Given the description of an element on the screen output the (x, y) to click on. 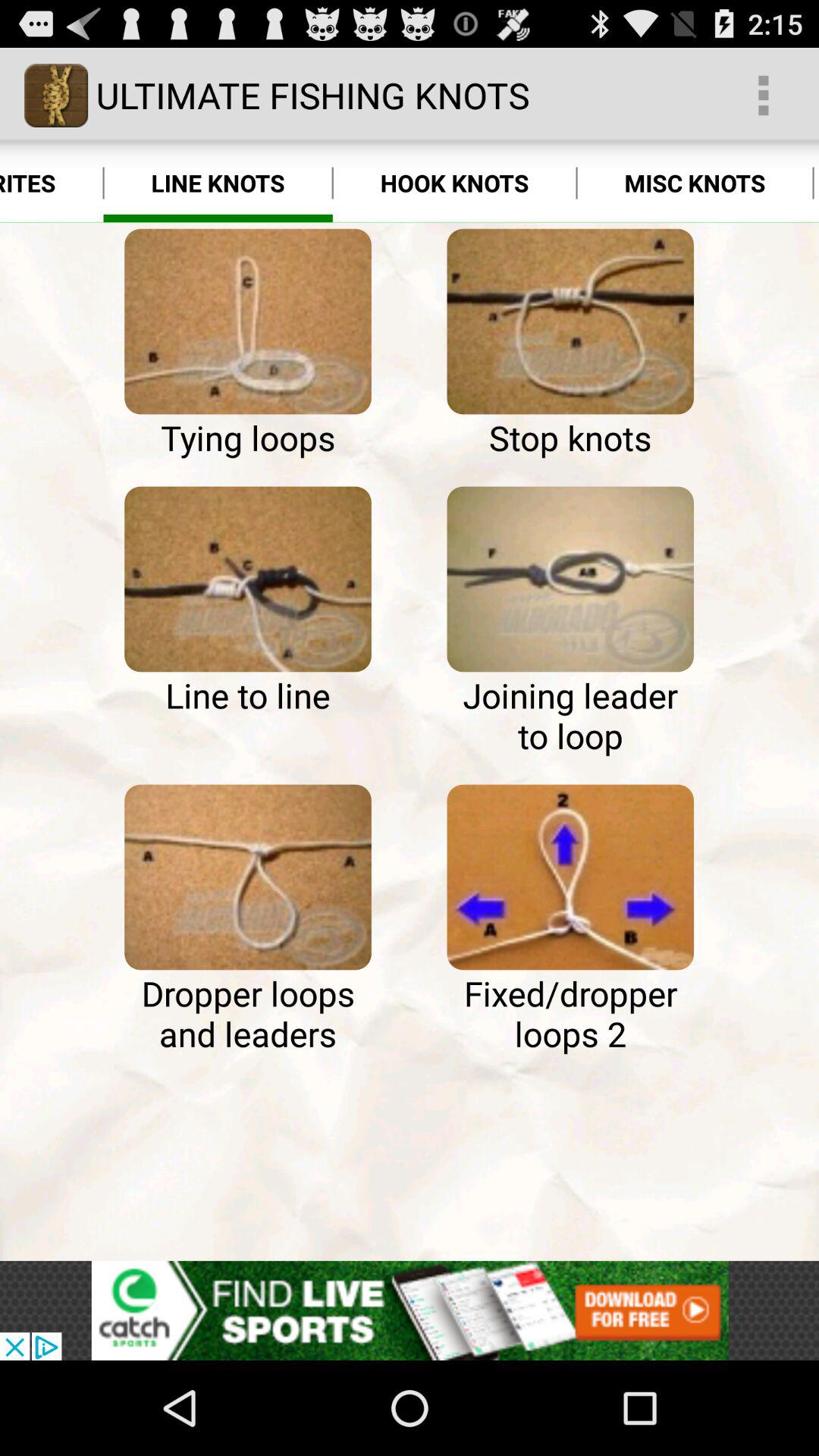
view picture (247, 321)
